Given the description of an element on the screen output the (x, y) to click on. 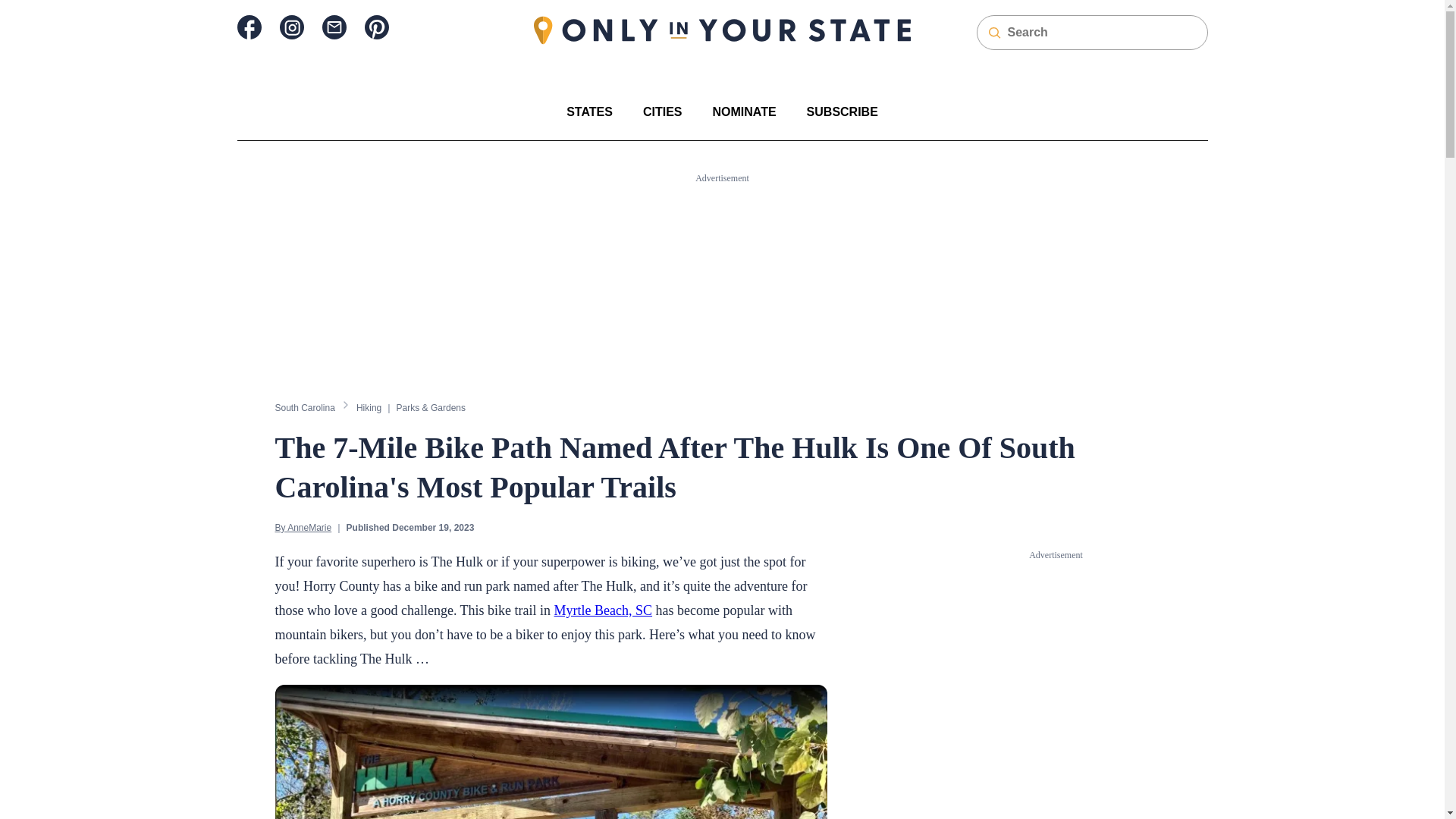
instagram (290, 27)
Hiking (368, 407)
Only in Your State (722, 30)
STATES (589, 111)
newsletter (333, 27)
Search (21, 7)
pinterest (376, 27)
facebook (247, 27)
